Given the description of an element on the screen output the (x, y) to click on. 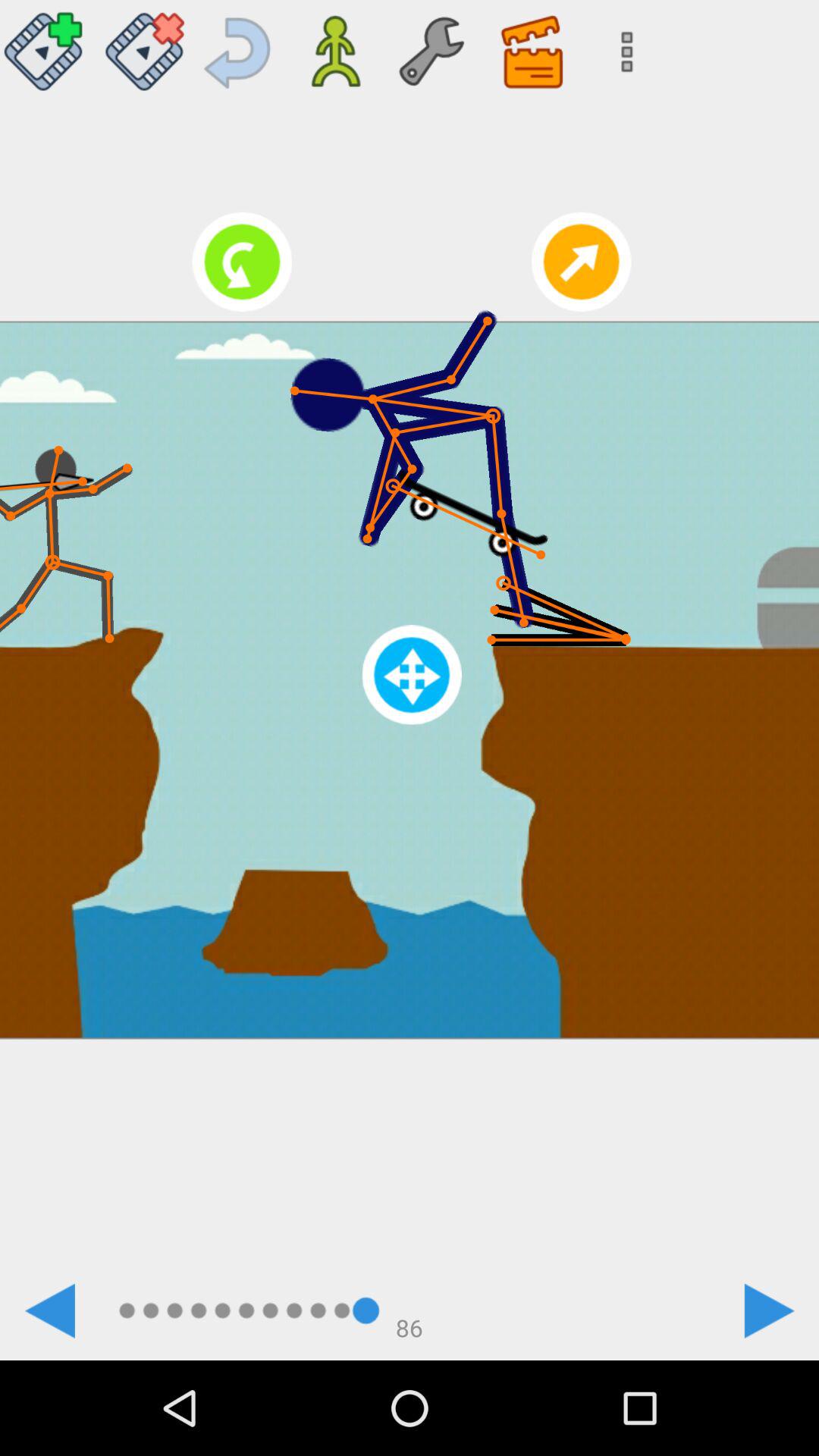
click the icon at the bottom left corner (49, 1310)
